Given the description of an element on the screen output the (x, y) to click on. 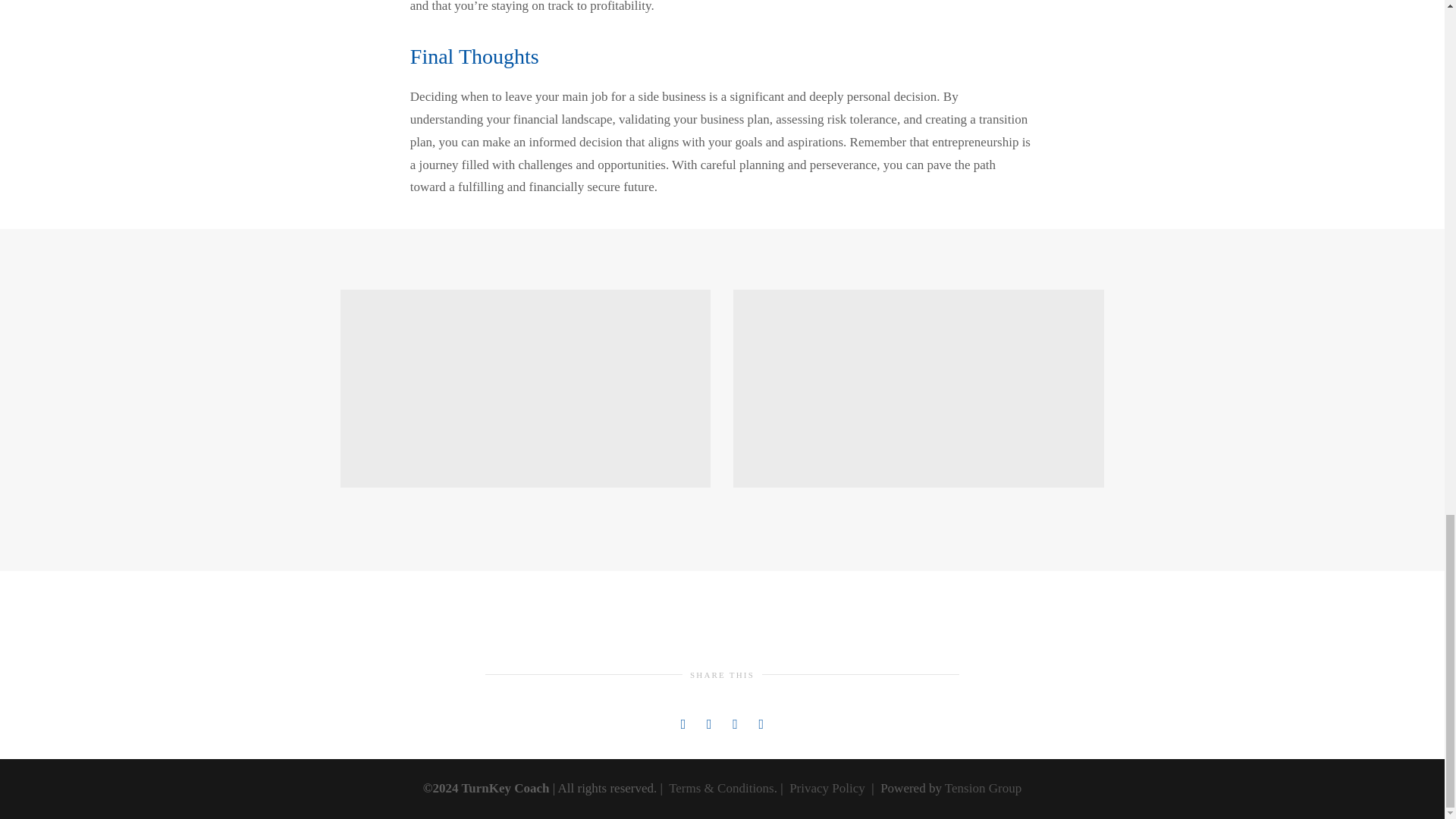
TKC-Ads-1200x628-3 (525, 388)
Privacy Policy (826, 788)
Tension Group (983, 788)
TKC-Ebook-Ads-1200x628-1 (918, 388)
